Given the description of an element on the screen output the (x, y) to click on. 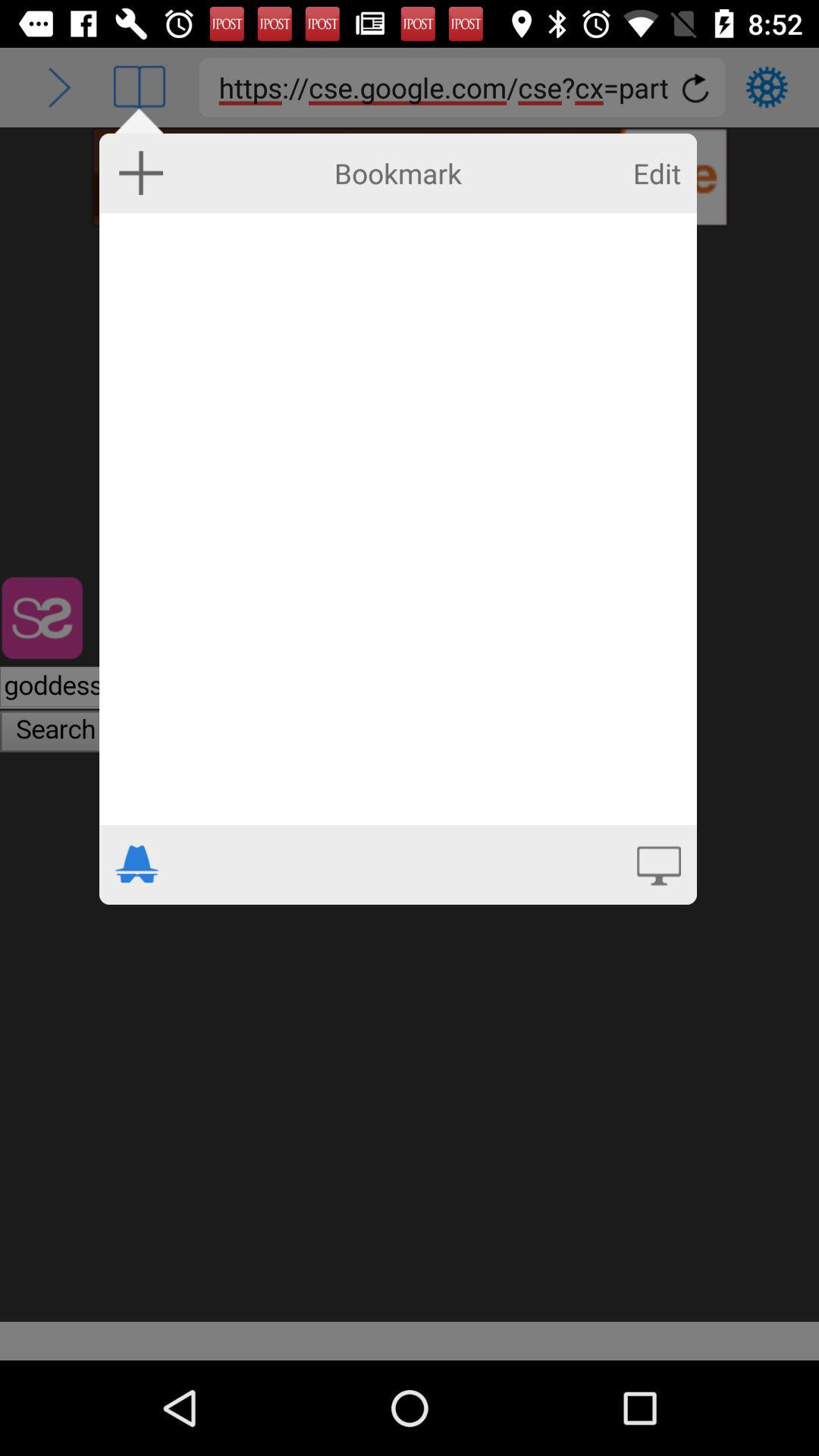
choose the icon at the top right corner (656, 172)
